Given the description of an element on the screen output the (x, y) to click on. 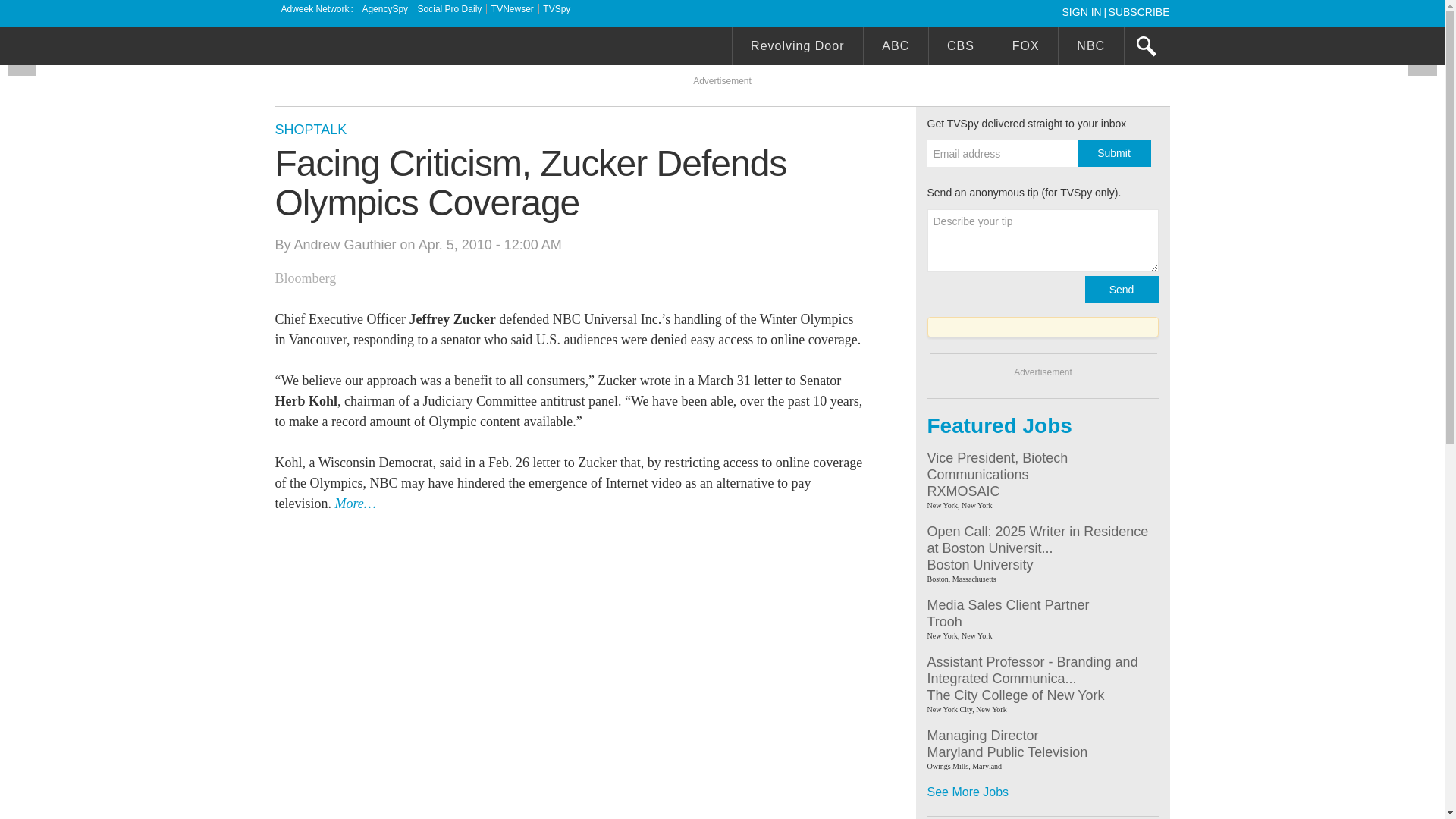
Adweek Network (316, 9)
Send (1120, 289)
ABC (895, 48)
FOX (1025, 48)
TVNewser (513, 9)
Covering local television news (388, 47)
SUBSCRIBE (1139, 11)
CBS (960, 48)
NBC (1091, 48)
Revolving Door (797, 48)
